Given the description of an element on the screen output the (x, y) to click on. 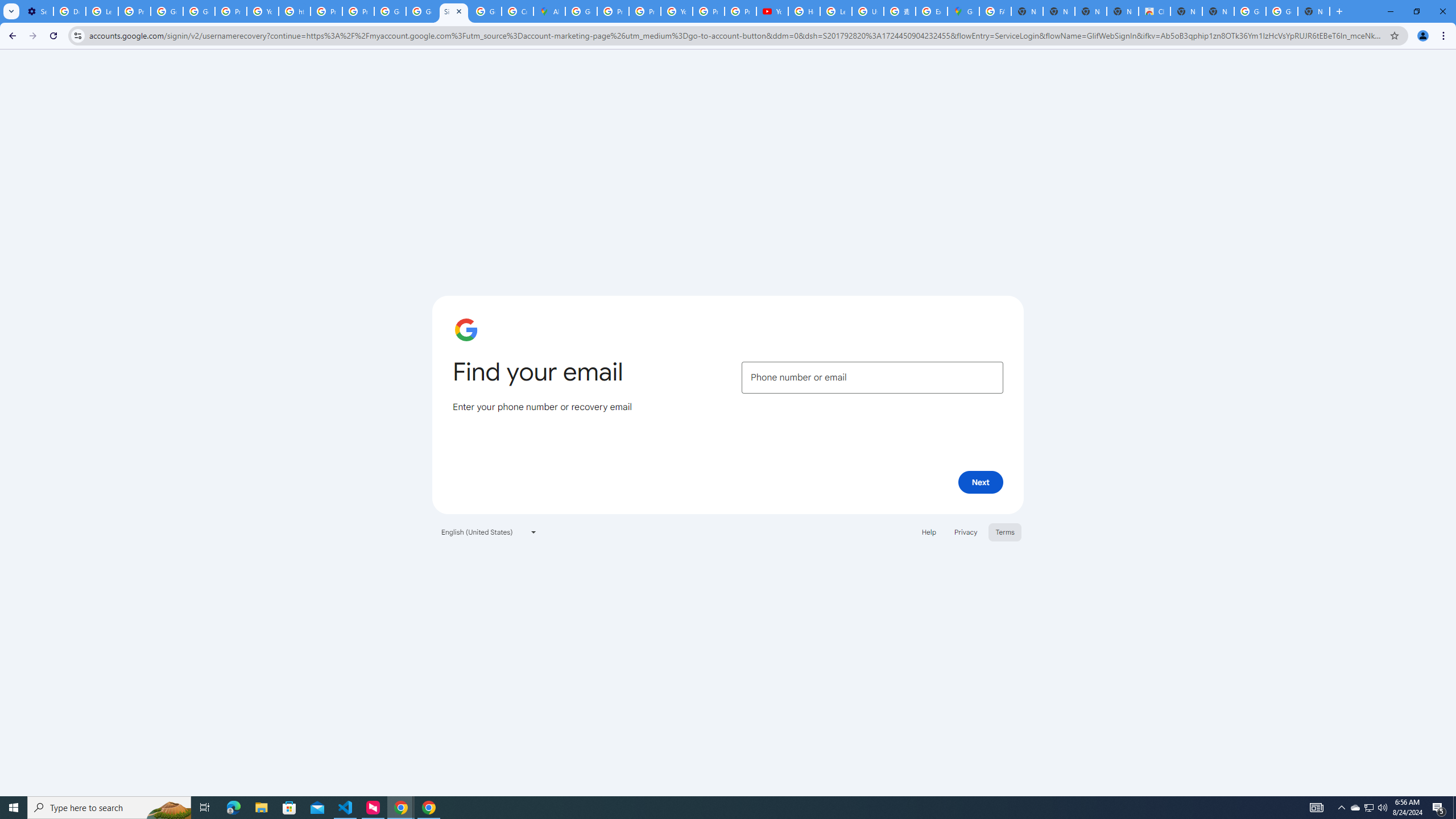
Privacy Checkup (740, 11)
YouTube (676, 11)
